Given the description of an element on the screen output the (x, y) to click on. 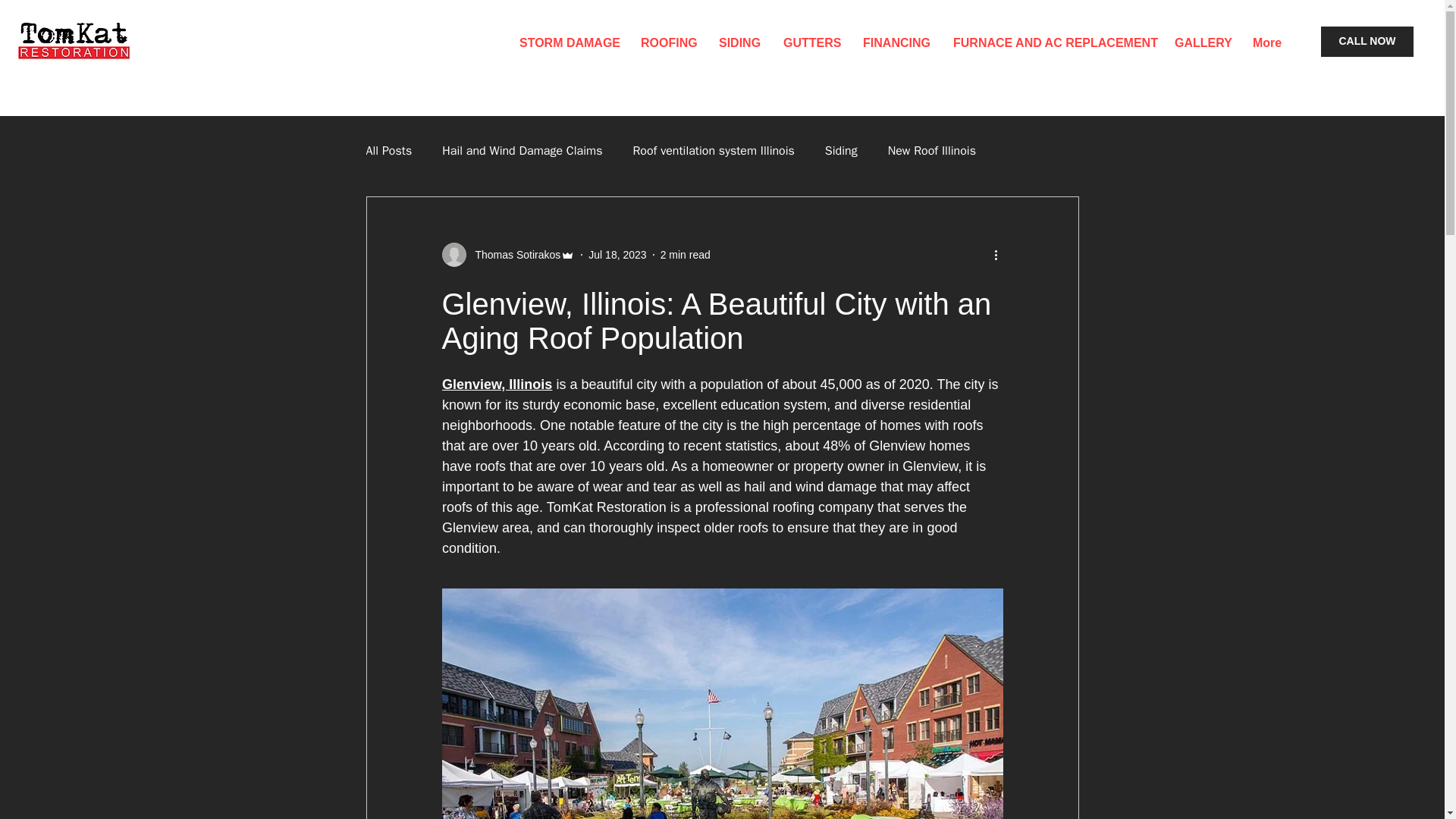
FINANCING (896, 43)
FURNACE AND AC REPLACEMENT (1052, 43)
ROOFING (667, 43)
Thomas Sotirakos (512, 254)
GUTTERS (811, 43)
STORM DAMAGE (568, 43)
SIDING (739, 43)
GALLERY (1201, 43)
2 min read (685, 254)
Jul 18, 2023 (617, 254)
